Given the description of an element on the screen output the (x, y) to click on. 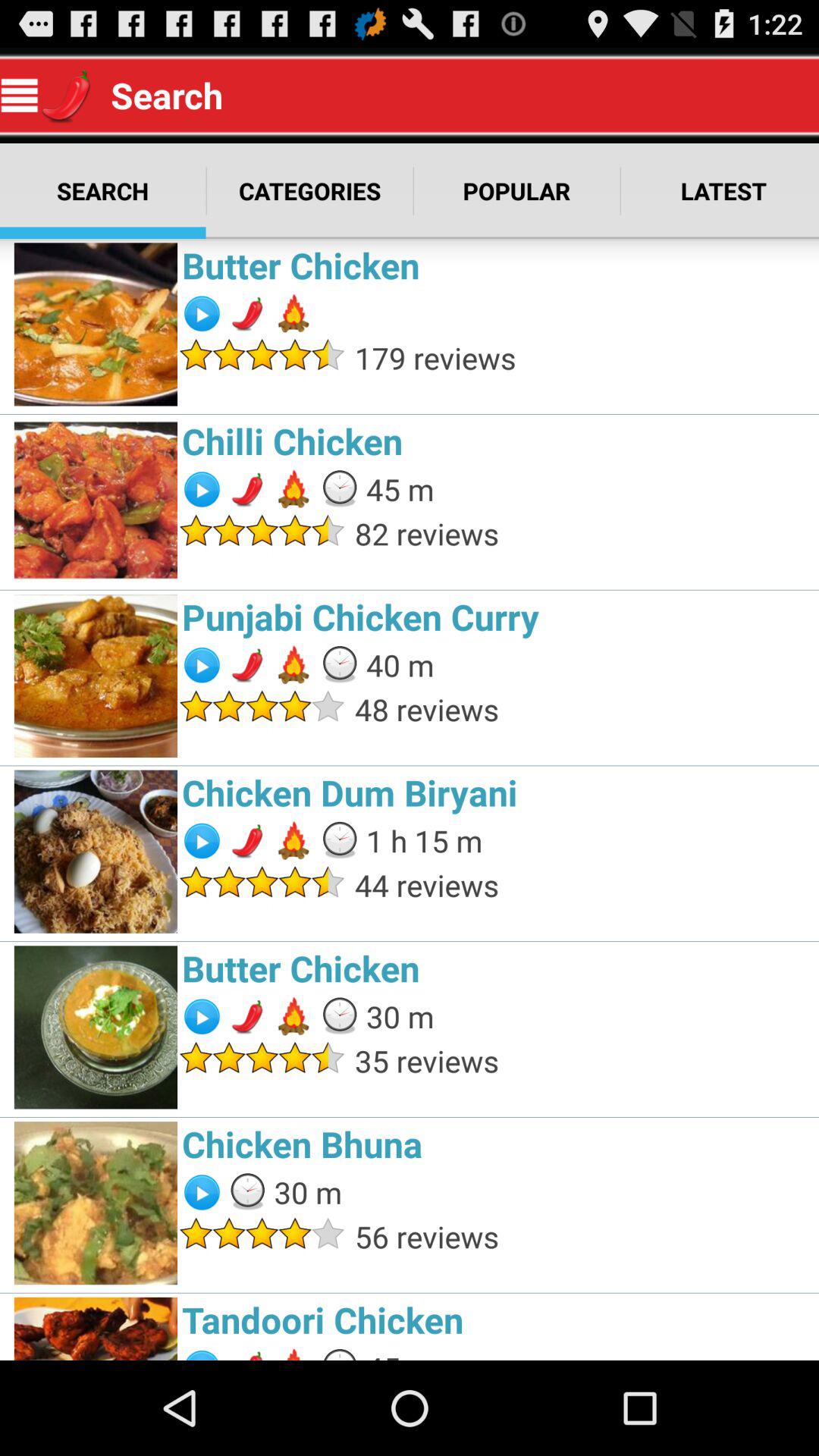
launch icon below butter chicken item (582, 357)
